Given the description of an element on the screen output the (x, y) to click on. 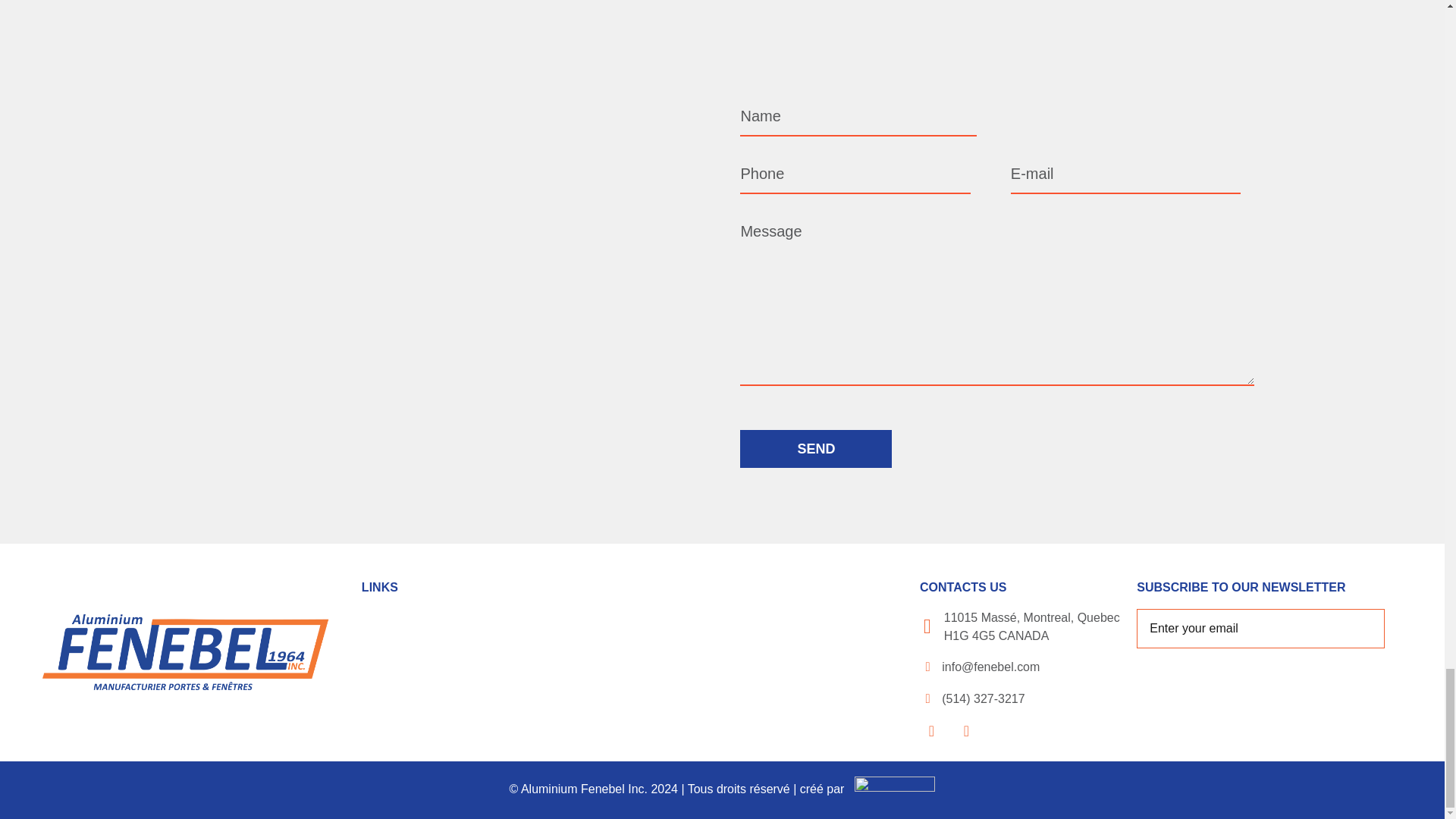
Send (815, 448)
Send (815, 448)
s (1362, 628)
